Given the description of an element on the screen output the (x, y) to click on. 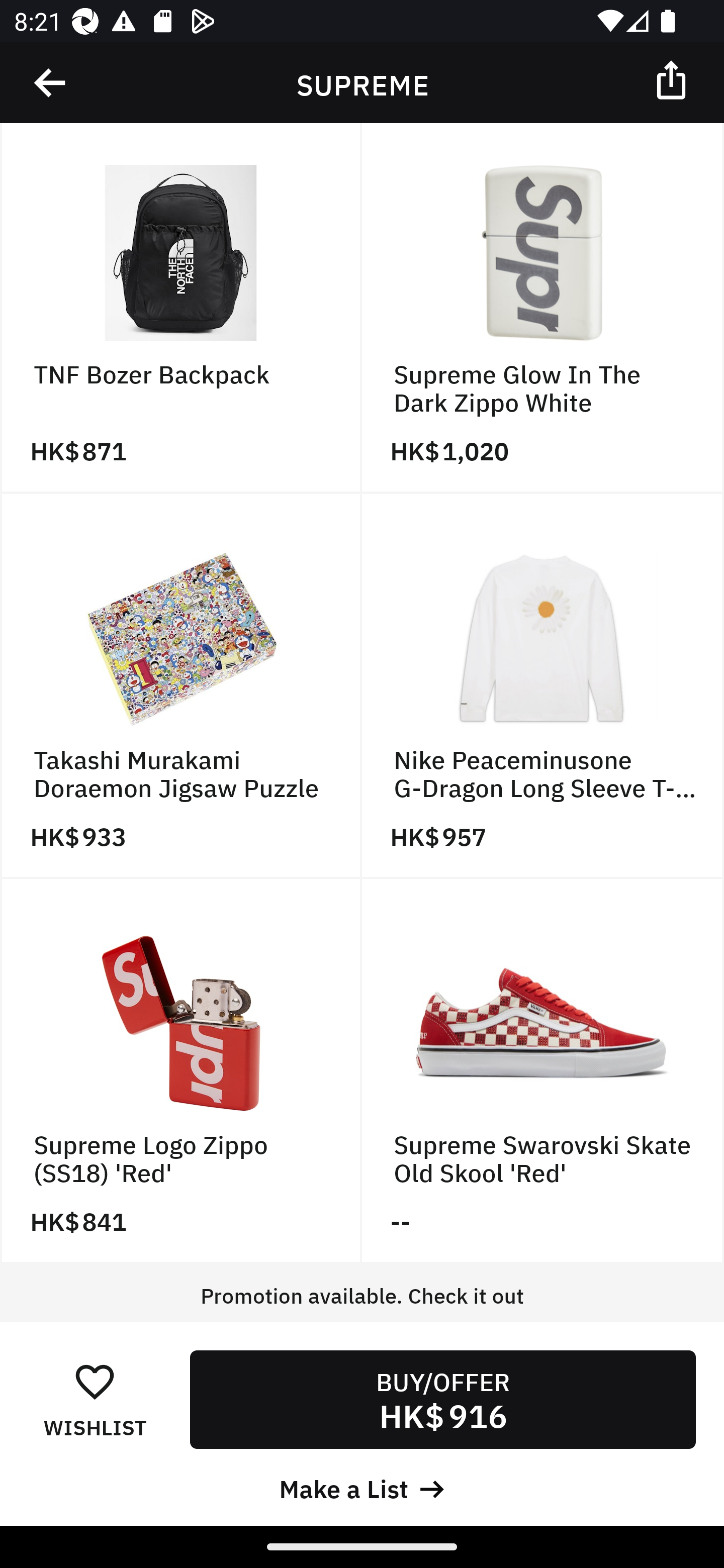
 (50, 83)
 (672, 79)
TNF Bozer Backpack HK$ 871 (181, 308)
Supreme Glow In The Dark Zippo White HK$ 1,020 (543, 308)
Takashi Murakami Doraemon Jigsaw Puzzle HK$ 933 (181, 685)
Supreme Logo Zippo (SS18) 'Red' HK$ 841 (181, 1070)
Supreme Swarovski Skate Old Skool 'Red' -- (543, 1070)
BUY/OFFER HK$ 916 (442, 1399)
󰋕 (94, 1380)
Make a List (361, 1486)
